Given the description of an element on the screen output the (x, y) to click on. 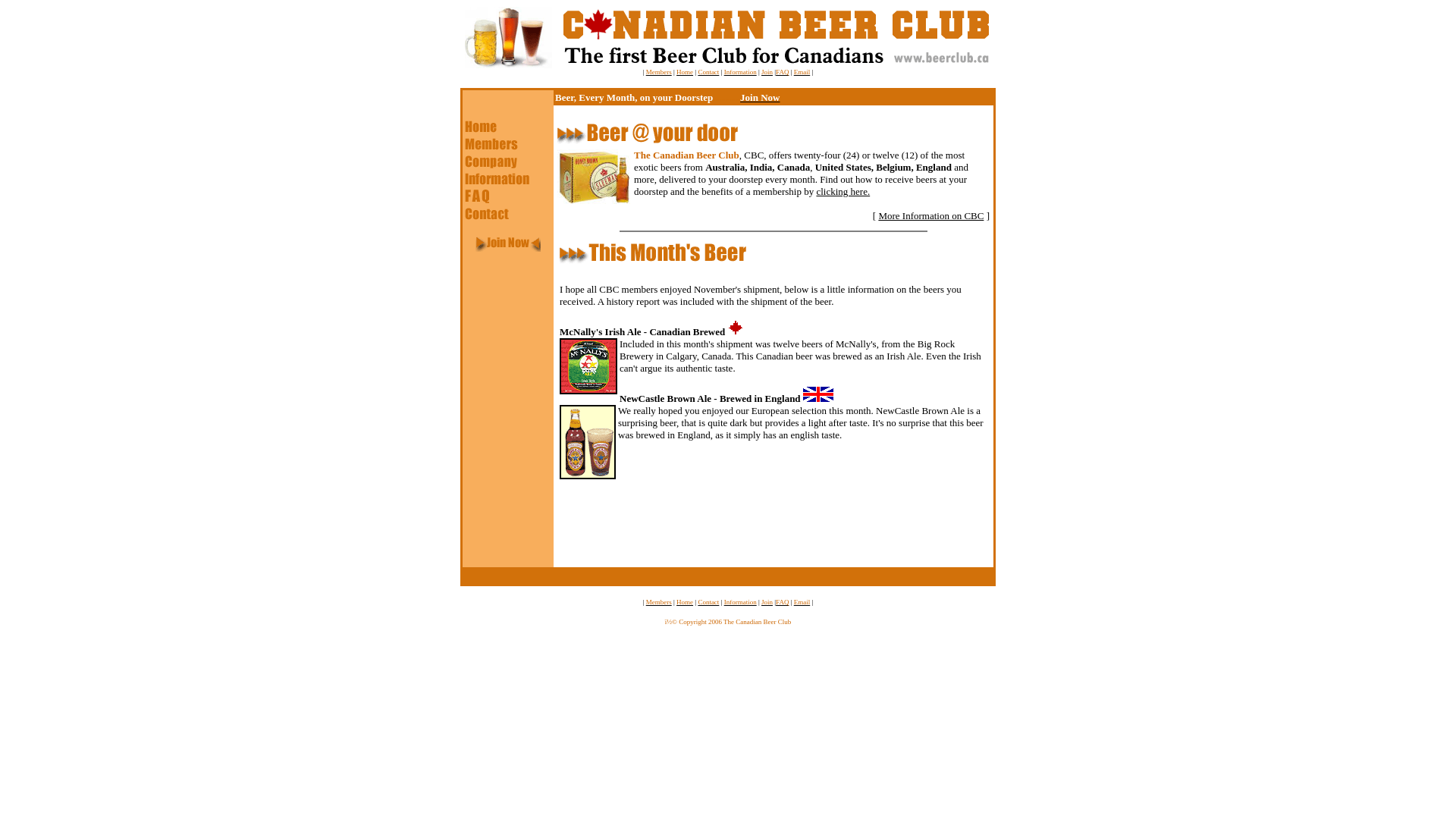
Home Element type: text (684, 71)
Contact Element type: text (707, 71)
Contact Element type: text (707, 601)
Information Element type: text (740, 601)
More Information on CBC Element type: text (930, 215)
Join Element type: text (766, 601)
Join Now Element type: text (759, 97)
Home Element type: text (684, 601)
FAQ Element type: text (781, 71)
Email Element type: text (801, 601)
clicking here. Element type: text (842, 191)
Members Element type: text (658, 601)
FAQ Element type: text (781, 601)
Information Element type: text (740, 71)
Members Element type: text (658, 71)
Join Element type: text (766, 71)
Email Element type: text (801, 71)
